Given the description of an element on the screen output the (x, y) to click on. 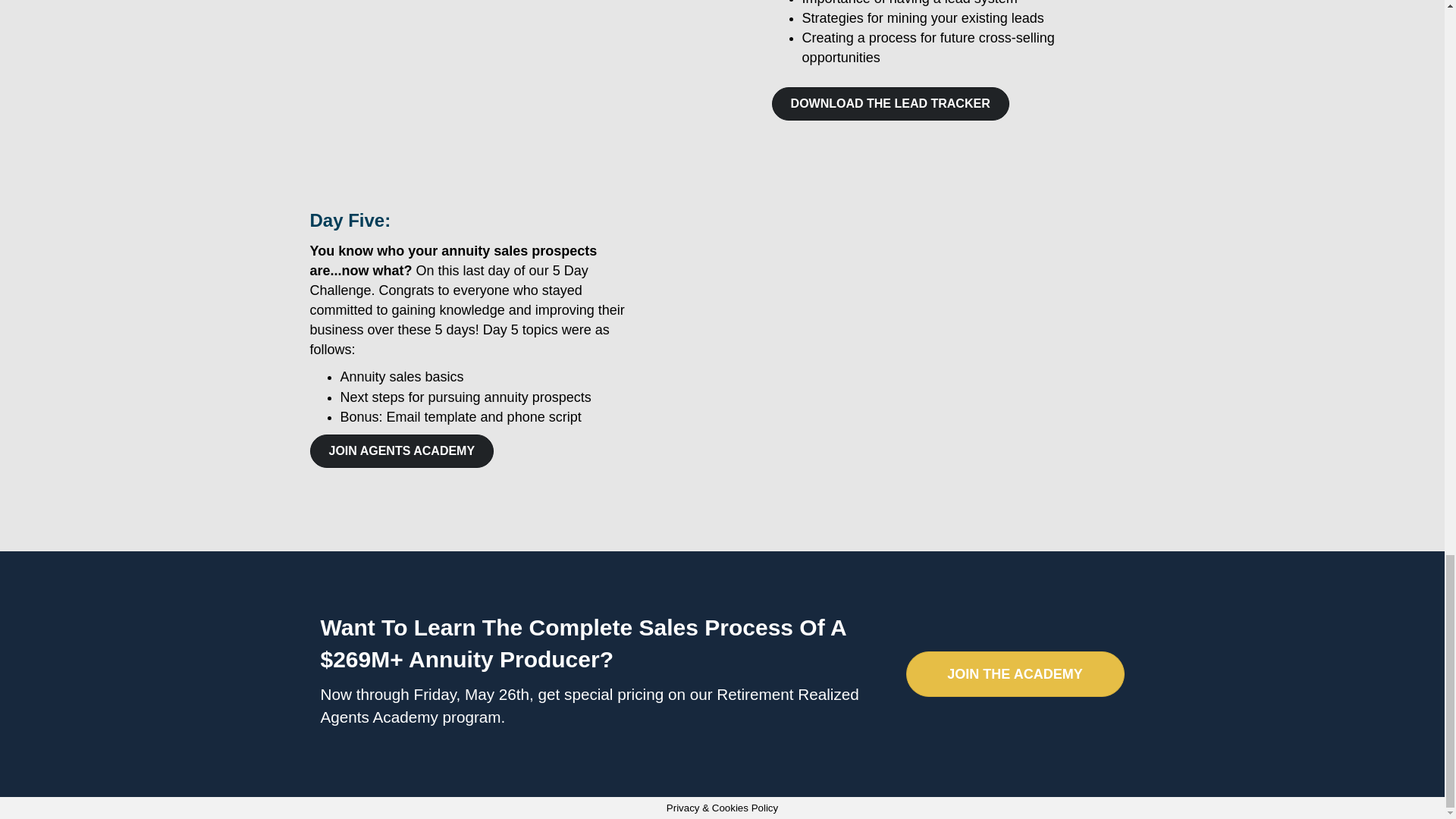
DOWNLOAD THE LEAD TRACKER (890, 103)
JOIN THE ACADEMY (1014, 673)
JOIN AGENTS ACADEMY (400, 450)
